Given the description of an element on the screen output the (x, y) to click on. 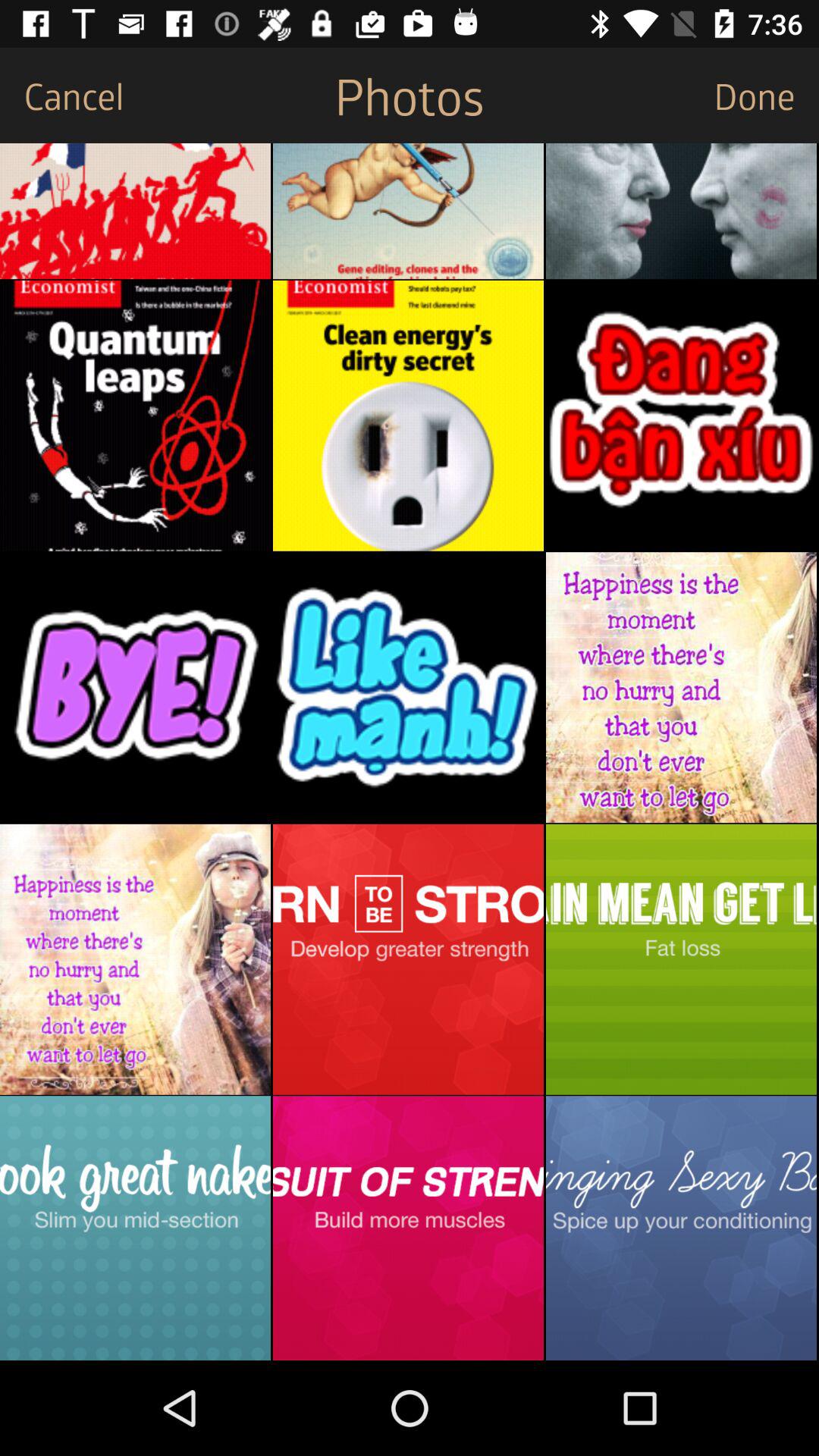
open image (681, 687)
